Given the description of an element on the screen output the (x, y) to click on. 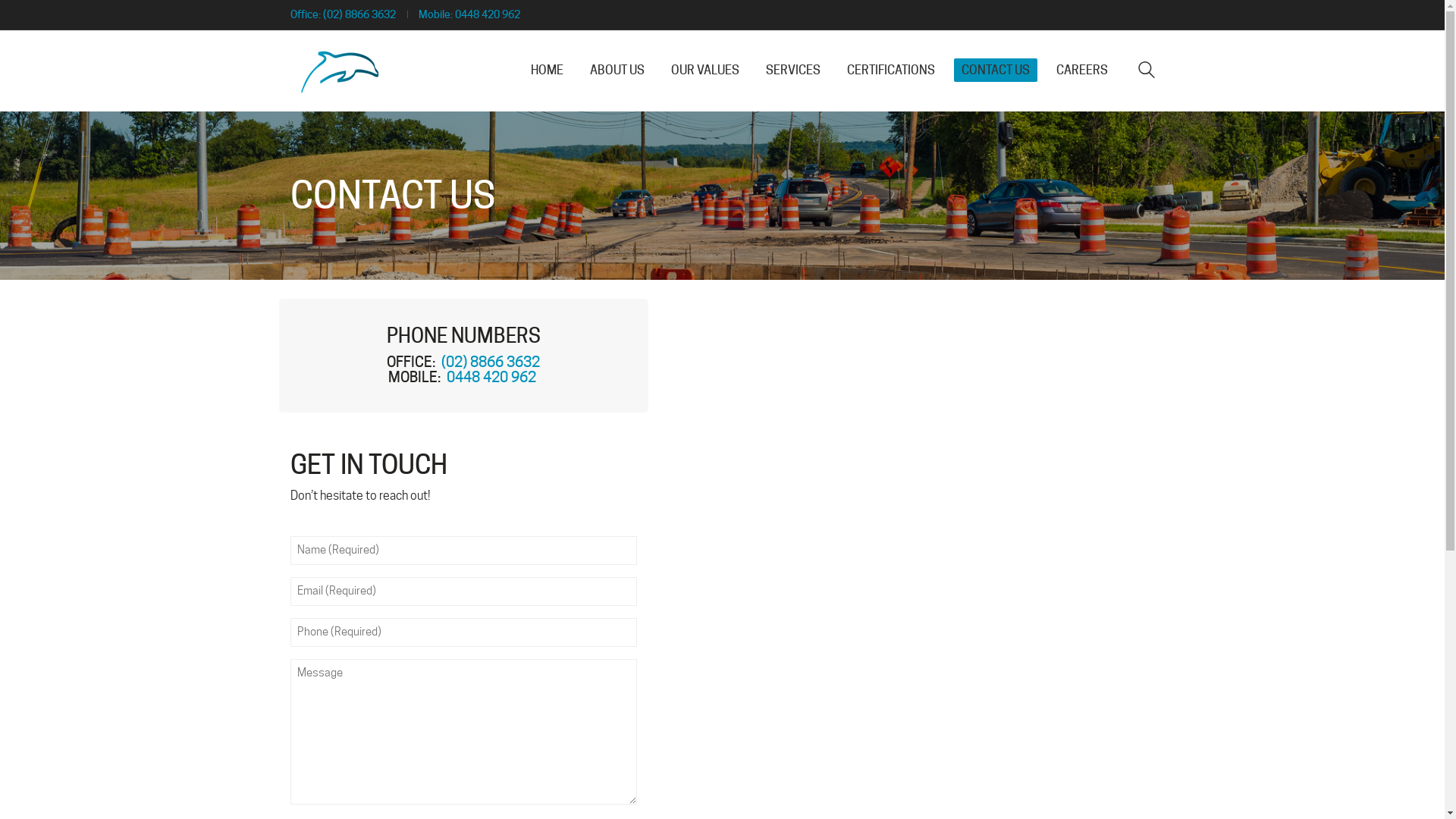
OUR VALUES Element type: text (704, 70)
CAREERS Element type: text (1081, 70)
CONTACT US Element type: text (995, 70)
CERTIFICATIONS Element type: text (889, 70)
0448 420 962 Element type: text (487, 14)
(02) 8866 3632 Element type: text (490, 361)
ABOUT US Element type: text (617, 70)
0448 420 962  Element type: text (492, 376)
SERVICES Element type: text (793, 70)
(02) 8866 3632 Element type: text (359, 14)
HOME Element type: text (547, 70)
